Given the description of an element on the screen output the (x, y) to click on. 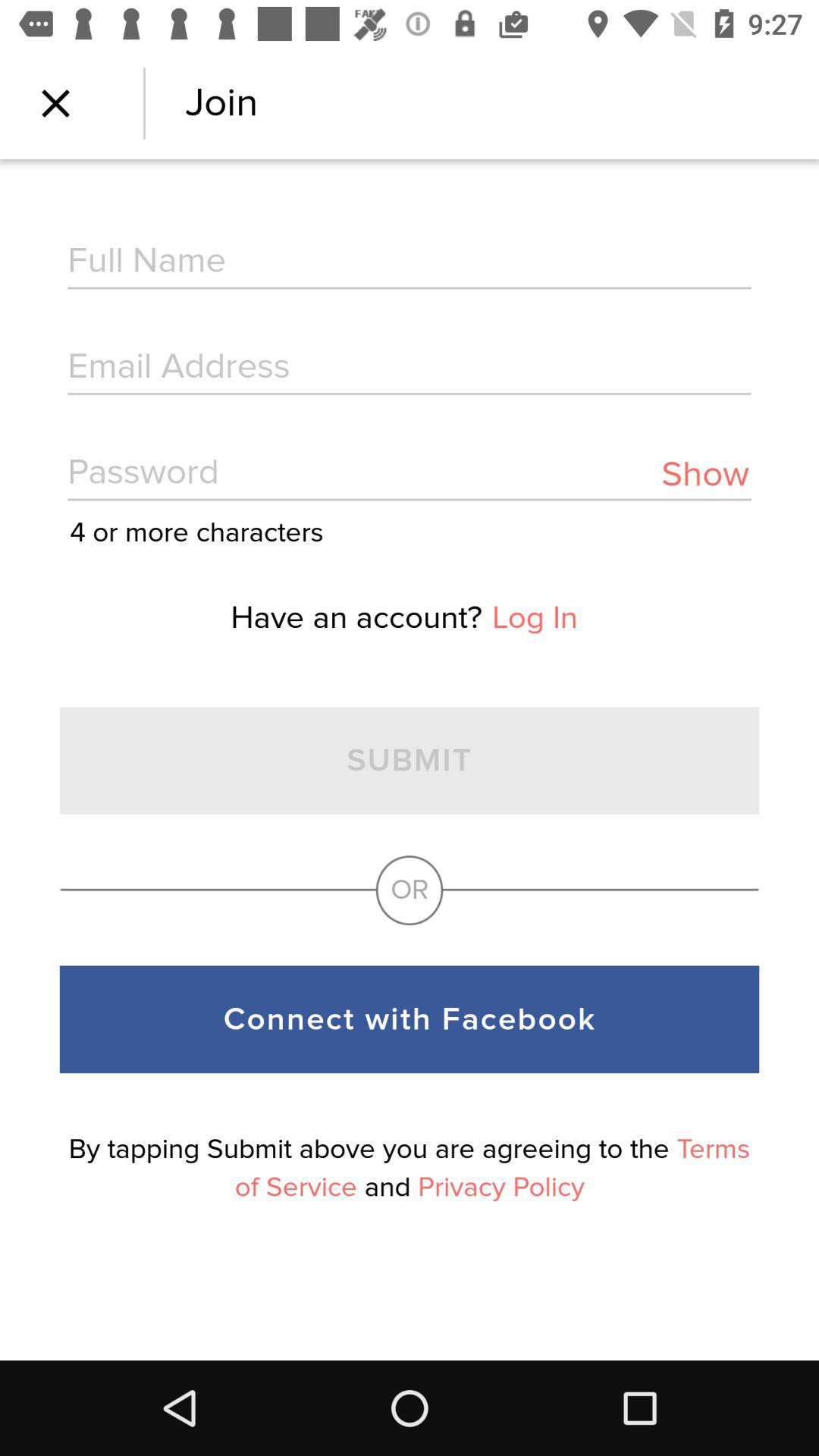
click item above the 4 or more (409, 474)
